Given the description of an element on the screen output the (x, y) to click on. 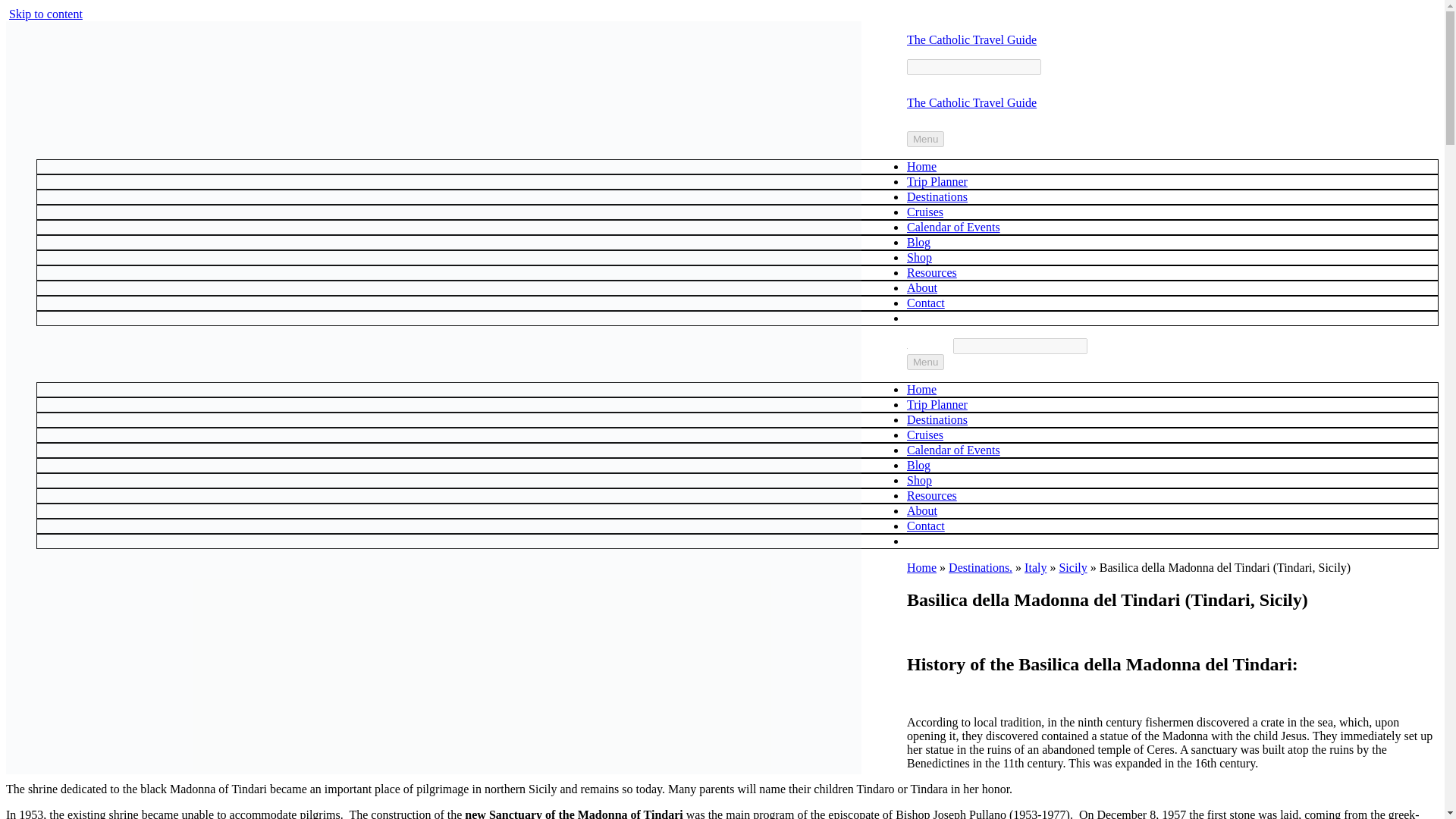
Home (921, 165)
Destinations (937, 196)
Blog (918, 464)
About (922, 510)
Contact (925, 525)
Shop (919, 256)
About (922, 287)
The Catholic Travel Guide (971, 39)
Trip Planner (937, 404)
Calendar of Events (953, 226)
Search (1020, 345)
Cruises (925, 434)
Trip Planner (937, 181)
Menu (925, 361)
Blog (918, 241)
